Given the description of an element on the screen output the (x, y) to click on. 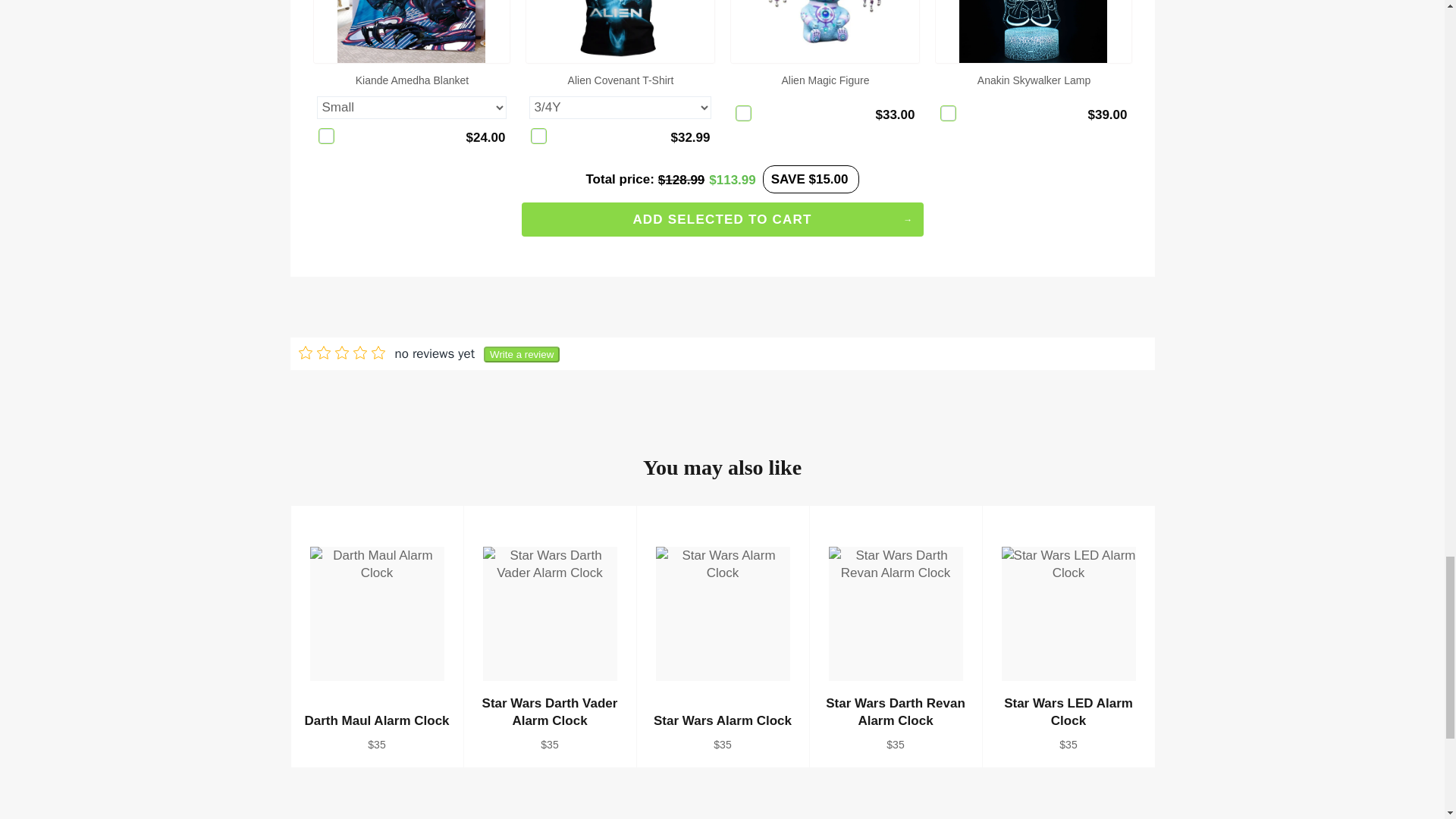
on (539, 135)
on (948, 113)
on (326, 135)
on (743, 113)
